Given the description of an element on the screen output the (x, y) to click on. 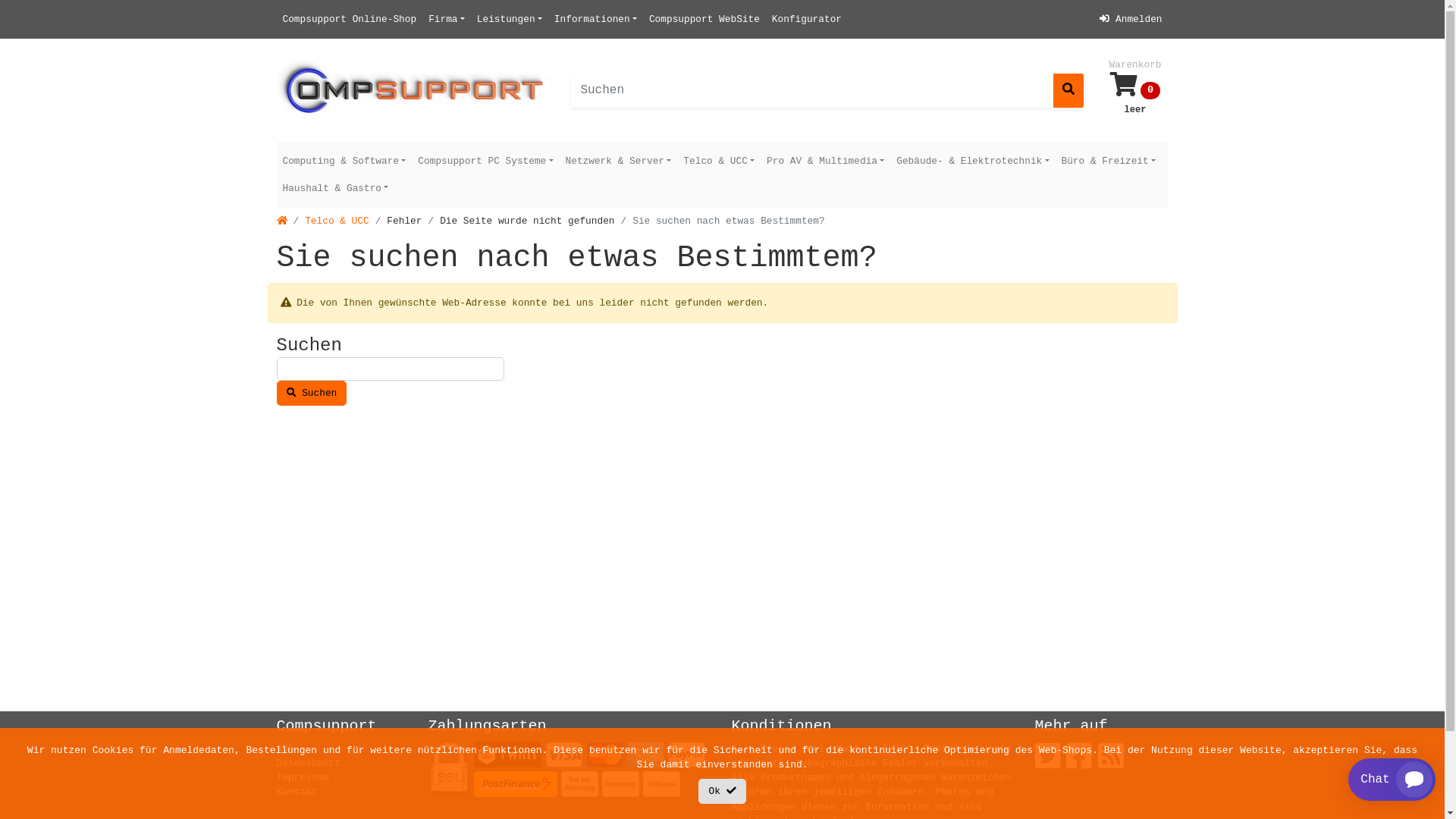
Netzwerk & Server Element type: text (618, 160)
Telco & UCC Element type: text (718, 160)
AGB Element type: text (284, 748)
Smartsupp widget button Element type: hover (1391, 779)
Warenkorb
0
leer Element type: text (1134, 89)
Kontakt Element type: text (296, 791)
Compsupport PC Systeme Element type: text (484, 160)
Suche Element type: hover (1068, 90)
Anmelden Element type: text (1130, 19)
Haushalt & Gastro Element type: text (335, 188)
Pro AV & Multimedia Element type: text (825, 160)
Compsupport WebSite Element type: text (704, 19)
Compsupport Online-Shop Element type: text (349, 19)
Impressum Element type: text (302, 777)
Suchen Element type: text (311, 392)
Firma Element type: text (446, 19)
Ok Element type: text (721, 790)
Datenschutz Element type: text (307, 762)
Leistungen Element type: text (509, 19)
Telco & UCC Element type: text (336, 220)
Informationen Element type: text (595, 19)
Konfigurator Element type: text (806, 19)
Computing & Software Element type: text (343, 160)
